Given the description of an element on the screen output the (x, y) to click on. 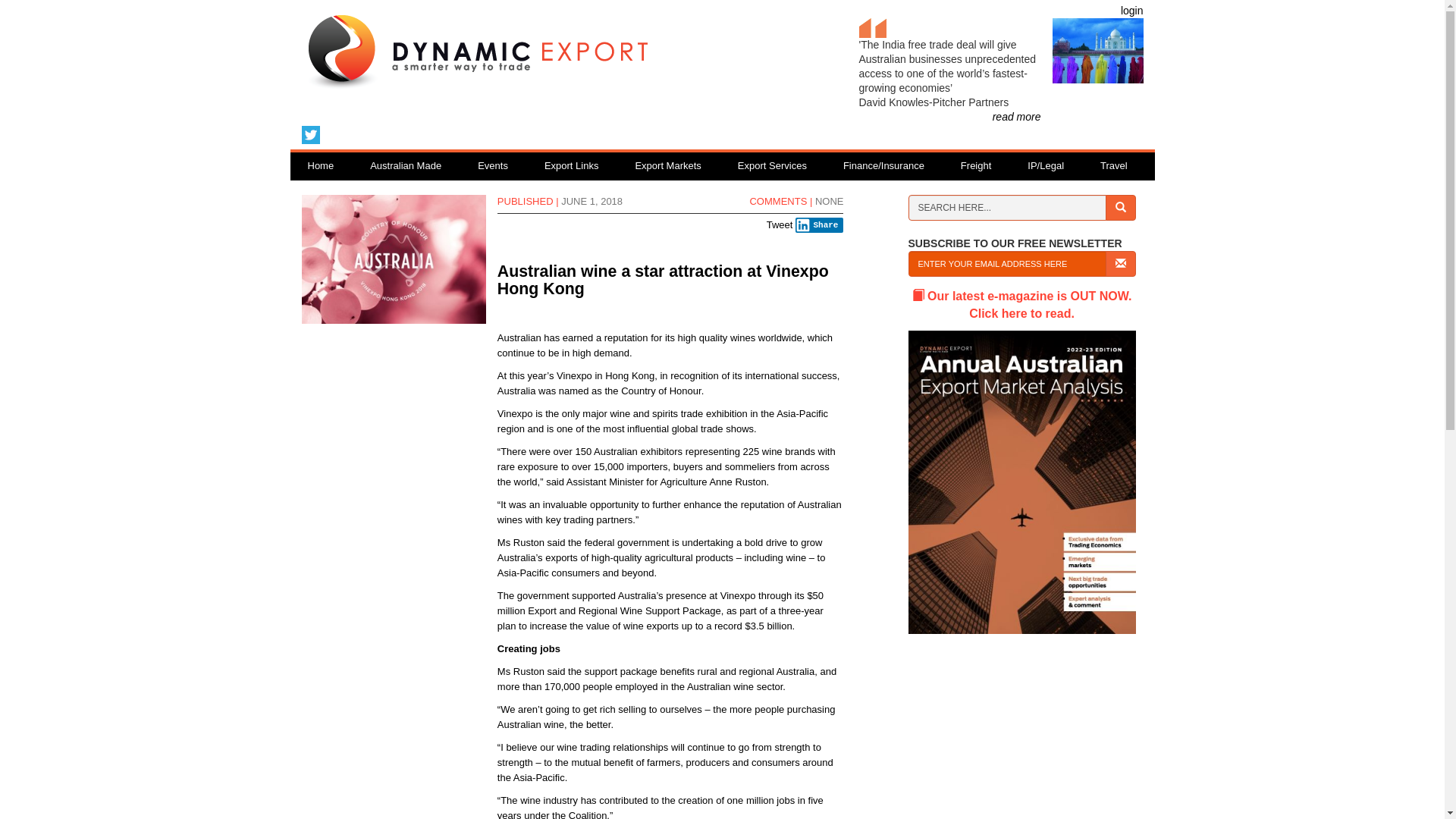
Home Element type: text (320, 166)
COMMENTS | Element type: text (780, 201)
Events Element type: text (492, 166)
Australian Made Element type: text (405, 166)
Click here to read. Element type: text (1021, 394)
login Element type: text (1131, 10)
Share Element type: text (819, 224)
Finance/Insurance Element type: text (883, 166)
IP/Legal Element type: text (1045, 166)
Travel Element type: text (1113, 166)
Export Links Element type: text (571, 166)
Freight Element type: text (975, 166)
read more Element type: text (1016, 116)
Tweet Element type: text (779, 224)
Export Services Element type: text (772, 166)
Export Markets Element type: text (667, 166)
